Given the description of an element on the screen output the (x, y) to click on. 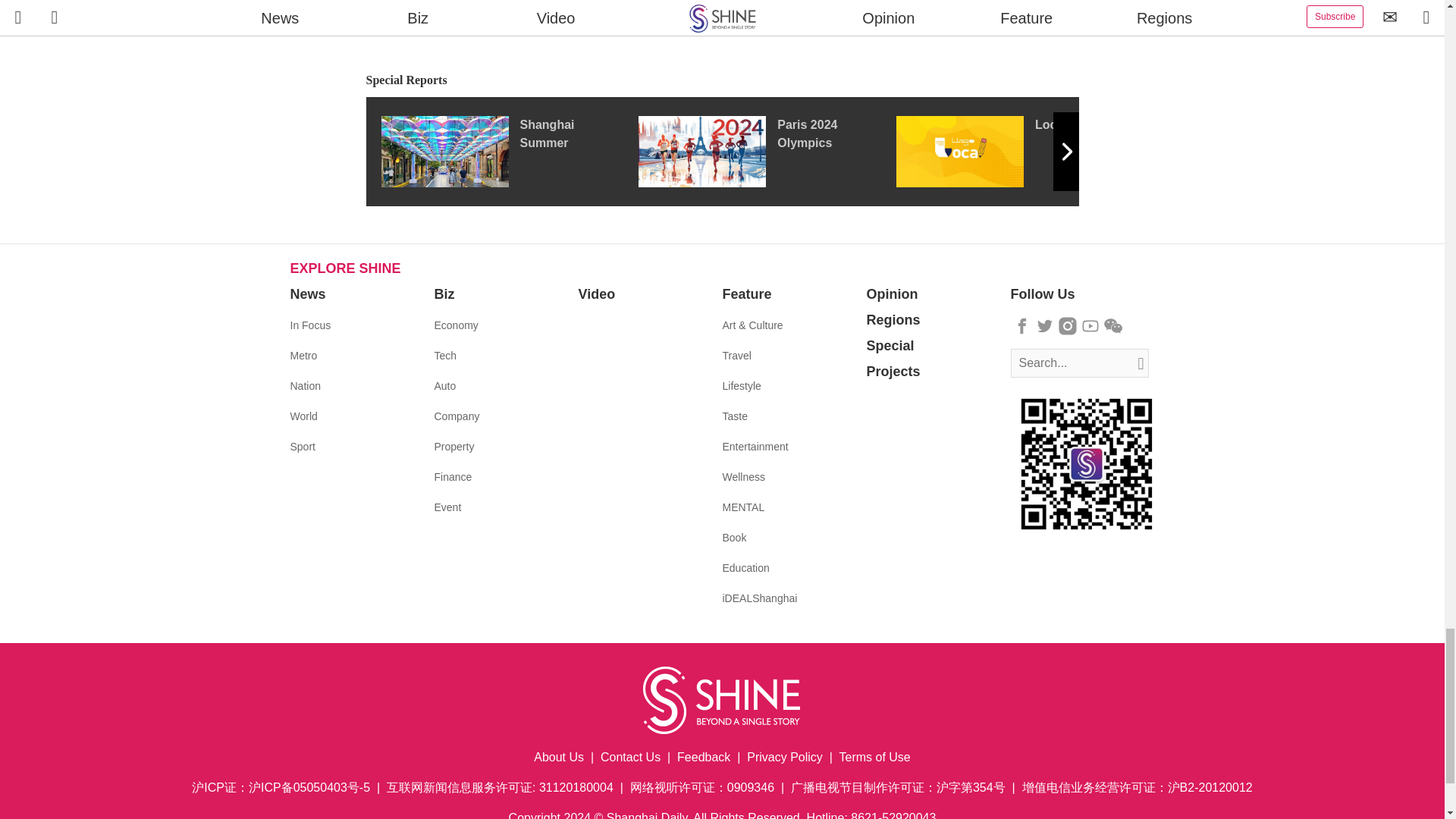
Local Lingo (1024, 151)
Special Reports (721, 80)
Follow us on Instagram (1067, 325)
Shanghai Summer (508, 151)
Follow us on Youtube (1090, 325)
Paris 2024 Olympics (767, 151)
Follow us on Wechat (1112, 325)
Follow us on Facebook (1021, 325)
Follow us on Twitter (1044, 325)
